Given the description of an element on the screen output the (x, y) to click on. 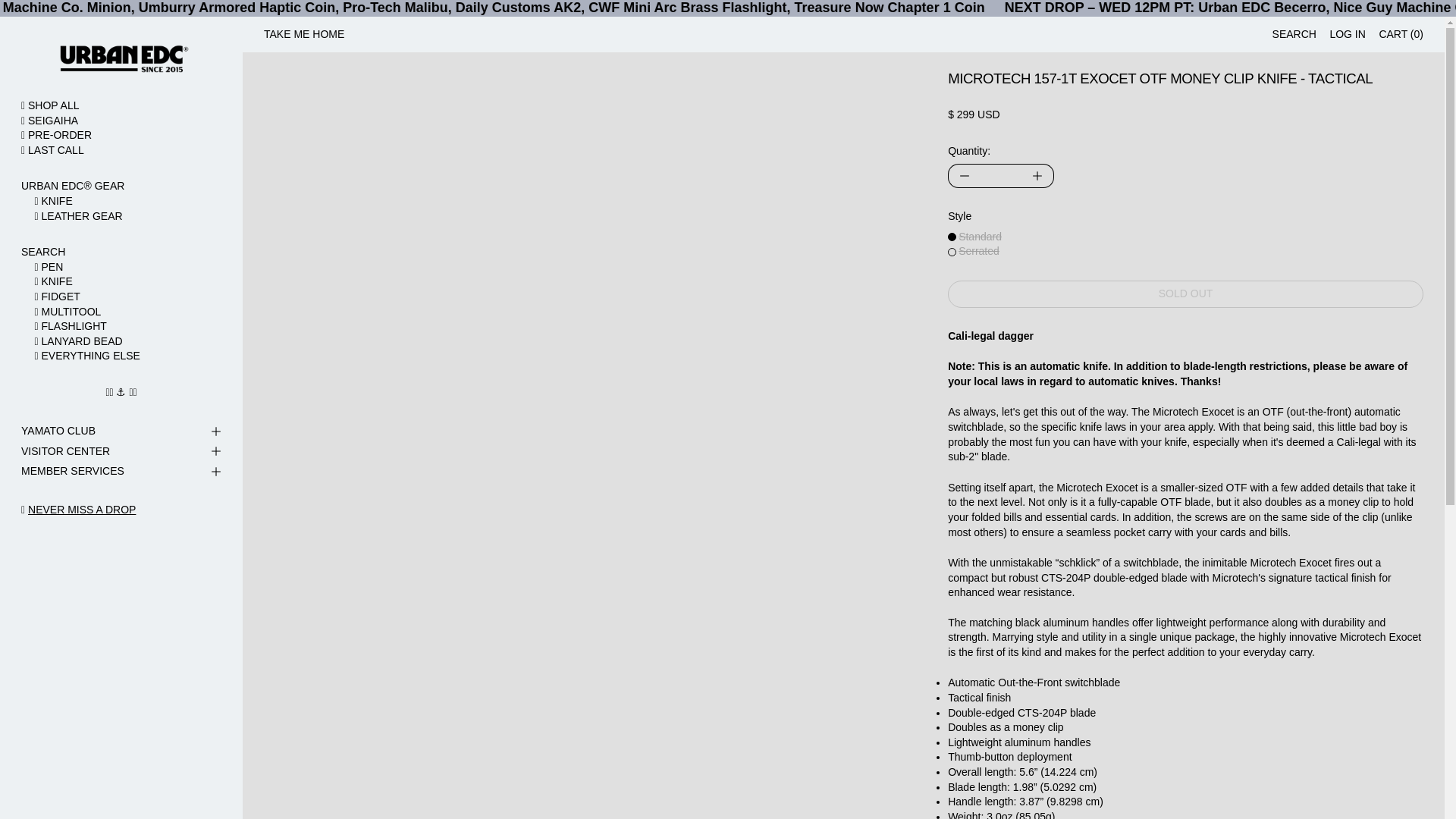
YAMATO CLUB (121, 431)
NEVER MISS A DROP (81, 509)
LOG IN (1347, 34)
TAKE ME HOME (303, 34)
SEARCH (121, 252)
MEMBER SERVICES (121, 471)
SEARCH (1294, 34)
VISITOR CENTER (121, 451)
